Given the description of an element on the screen output the (x, y) to click on. 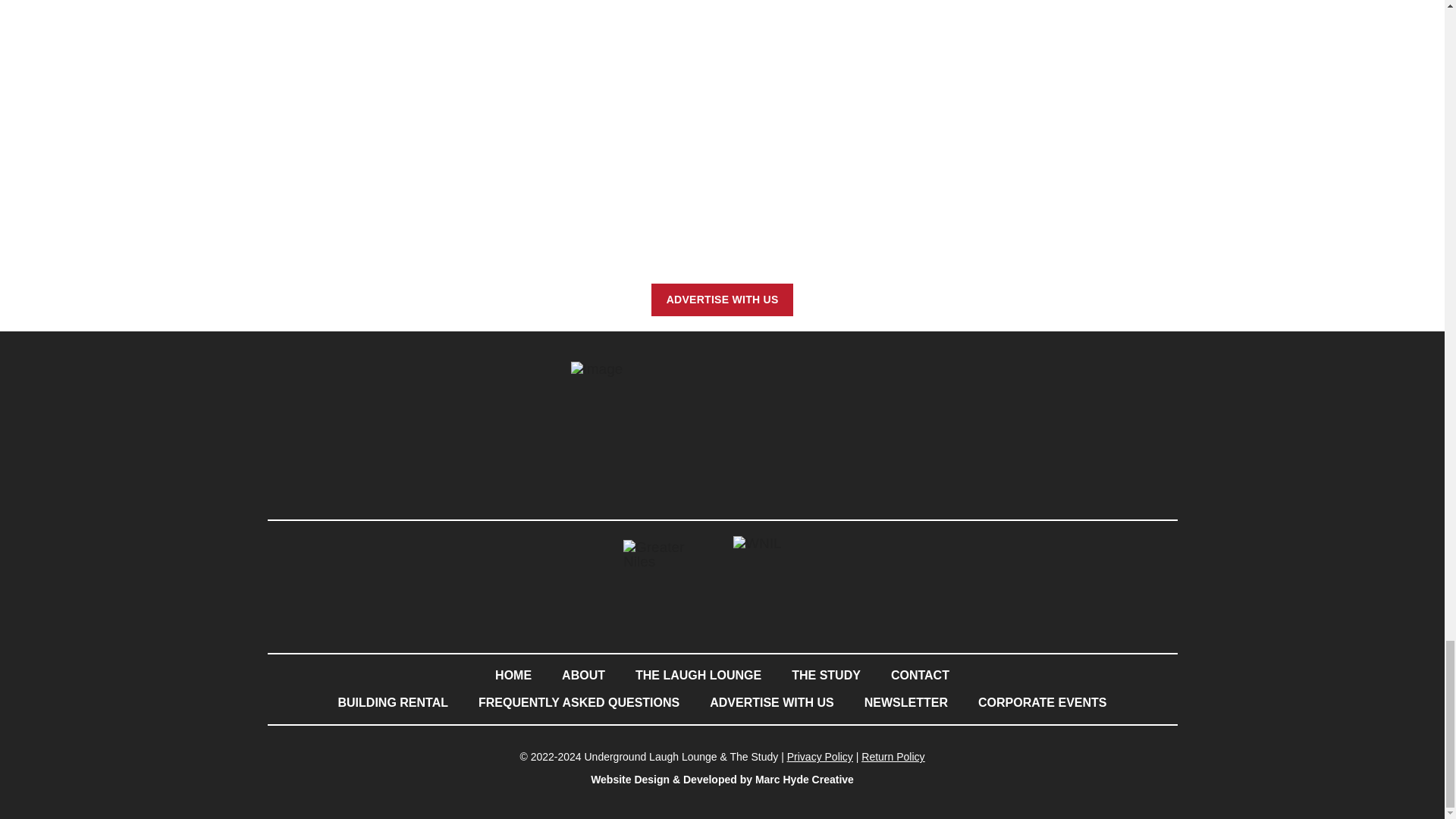
ADVERTISE WITH US (721, 299)
HOME (513, 675)
ABOUT (583, 675)
